Given the description of an element on the screen output the (x, y) to click on. 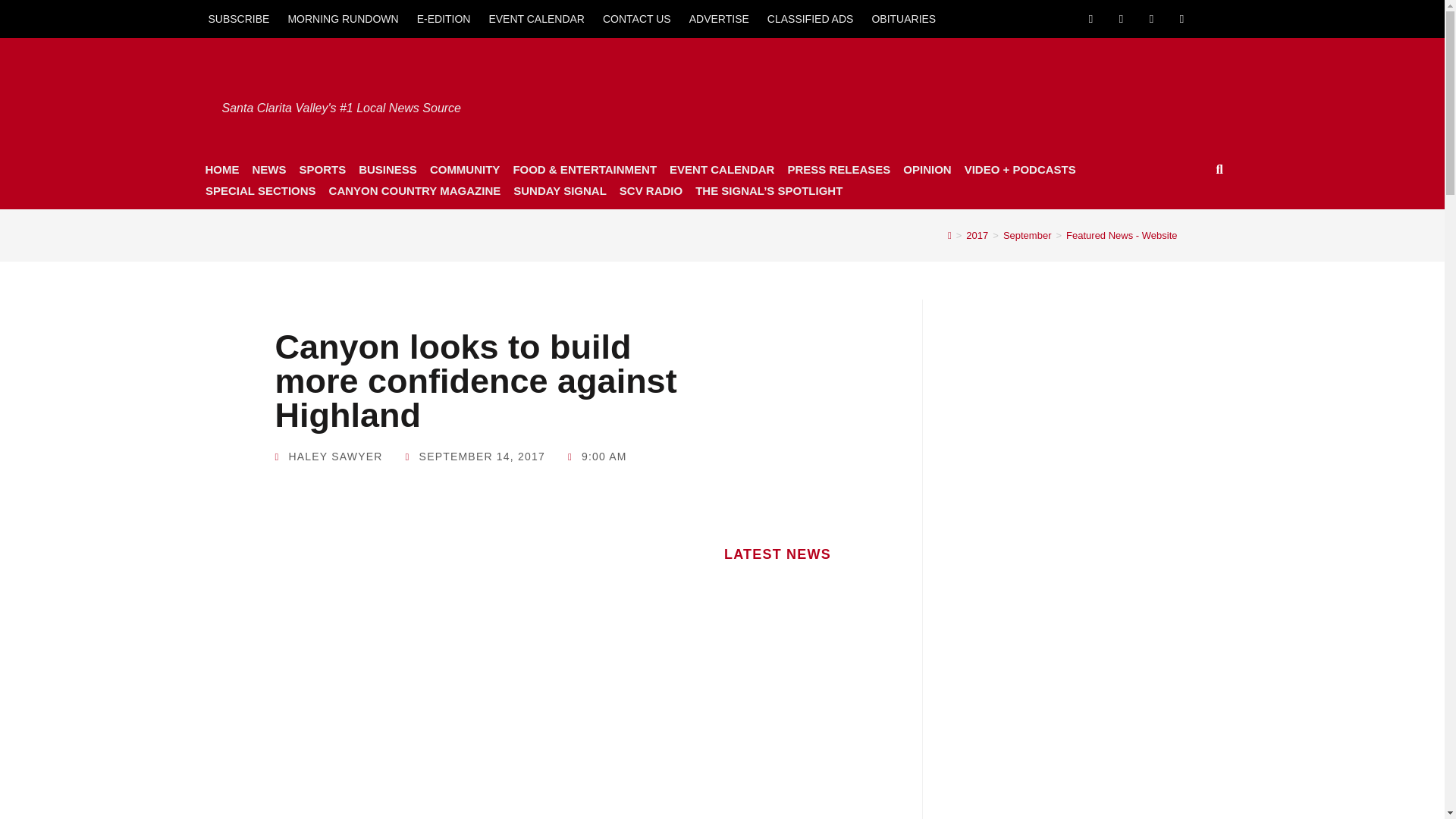
CLASSIFIED ADS (810, 18)
HOME (221, 169)
CONTACT US (636, 18)
NEWS (269, 169)
ADVERTISE (718, 18)
MORNING RUNDOWN (342, 18)
SUBSCRIBE (238, 18)
E-EDITION (443, 18)
EVENT CALENDAR (536, 18)
SPORTS (322, 169)
